Given the description of an element on the screen output the (x, y) to click on. 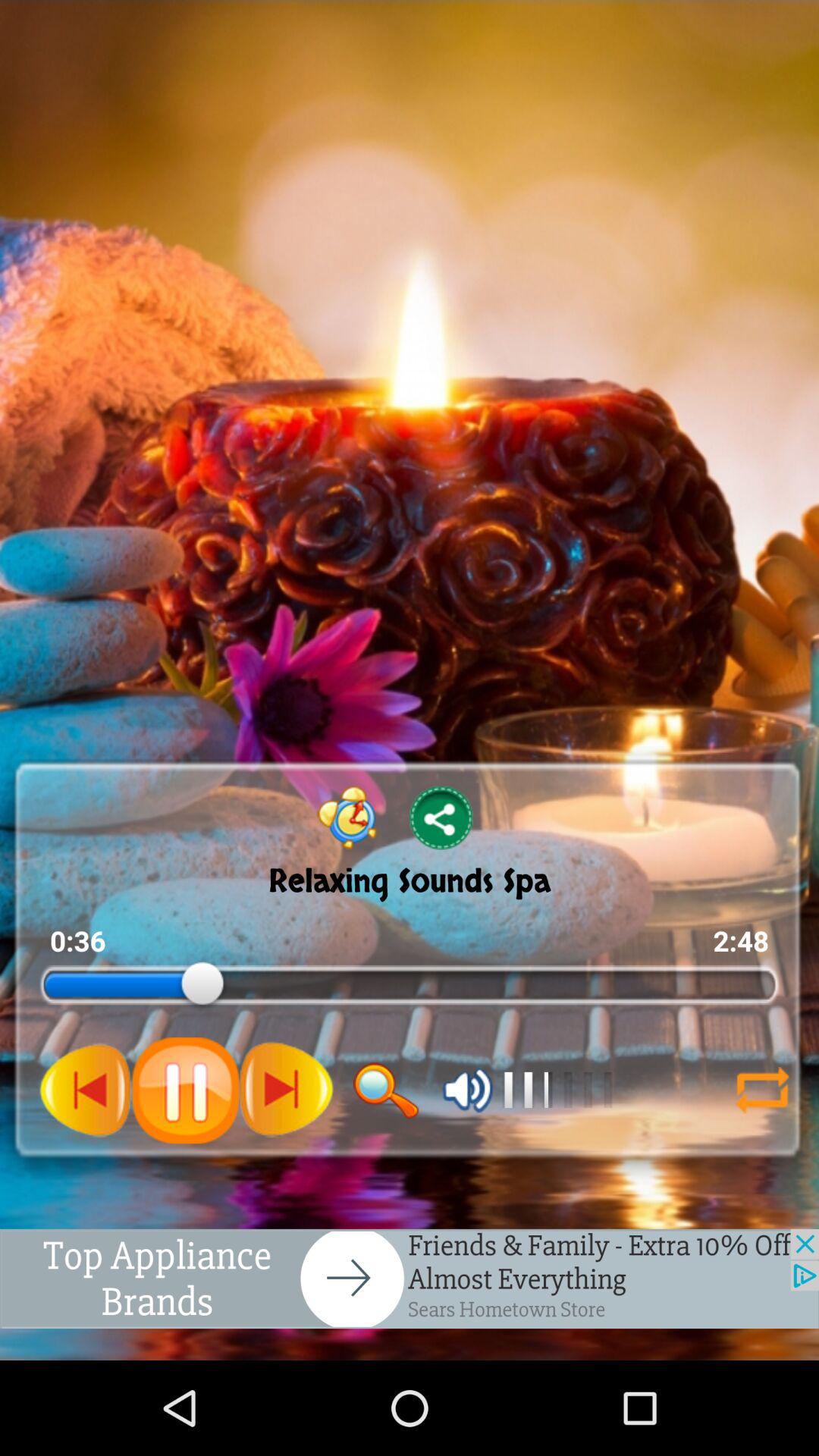
this highlighted interactive element is advertisement (409, 1278)
